Given the description of an element on the screen output the (x, y) to click on. 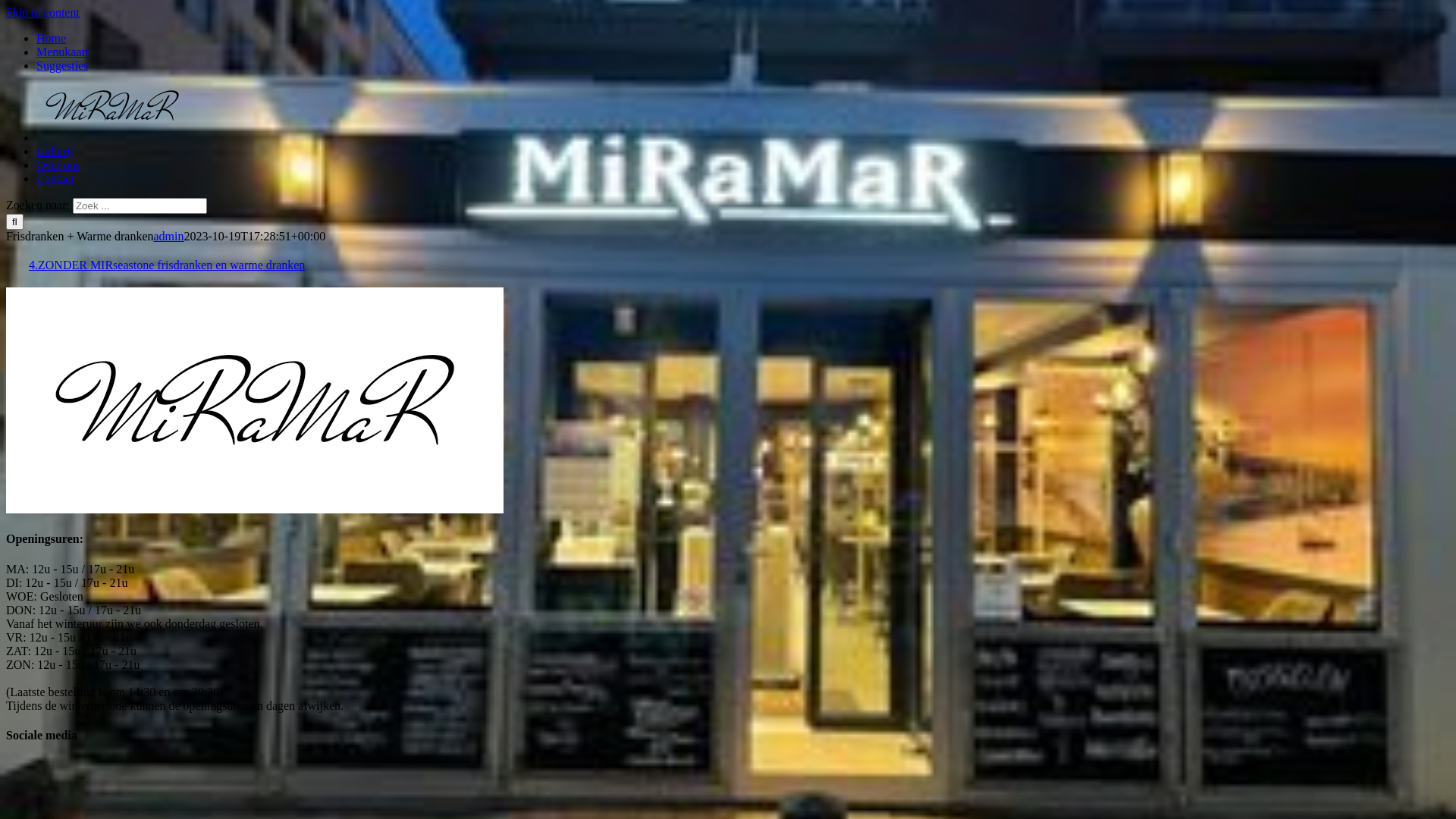
4.ZONDER MIRseastone frisdranken en warme dranken Element type: text (166, 264)
Suggesties Element type: text (61, 65)
Over ons Element type: text (58, 164)
Contact Element type: text (55, 178)
Home Element type: text (50, 37)
Menukaart Element type: text (62, 51)
admin Element type: text (168, 235)
Skip to content Element type: text (42, 12)
Gallerij Element type: text (54, 150)
